Given the description of an element on the screen output the (x, y) to click on. 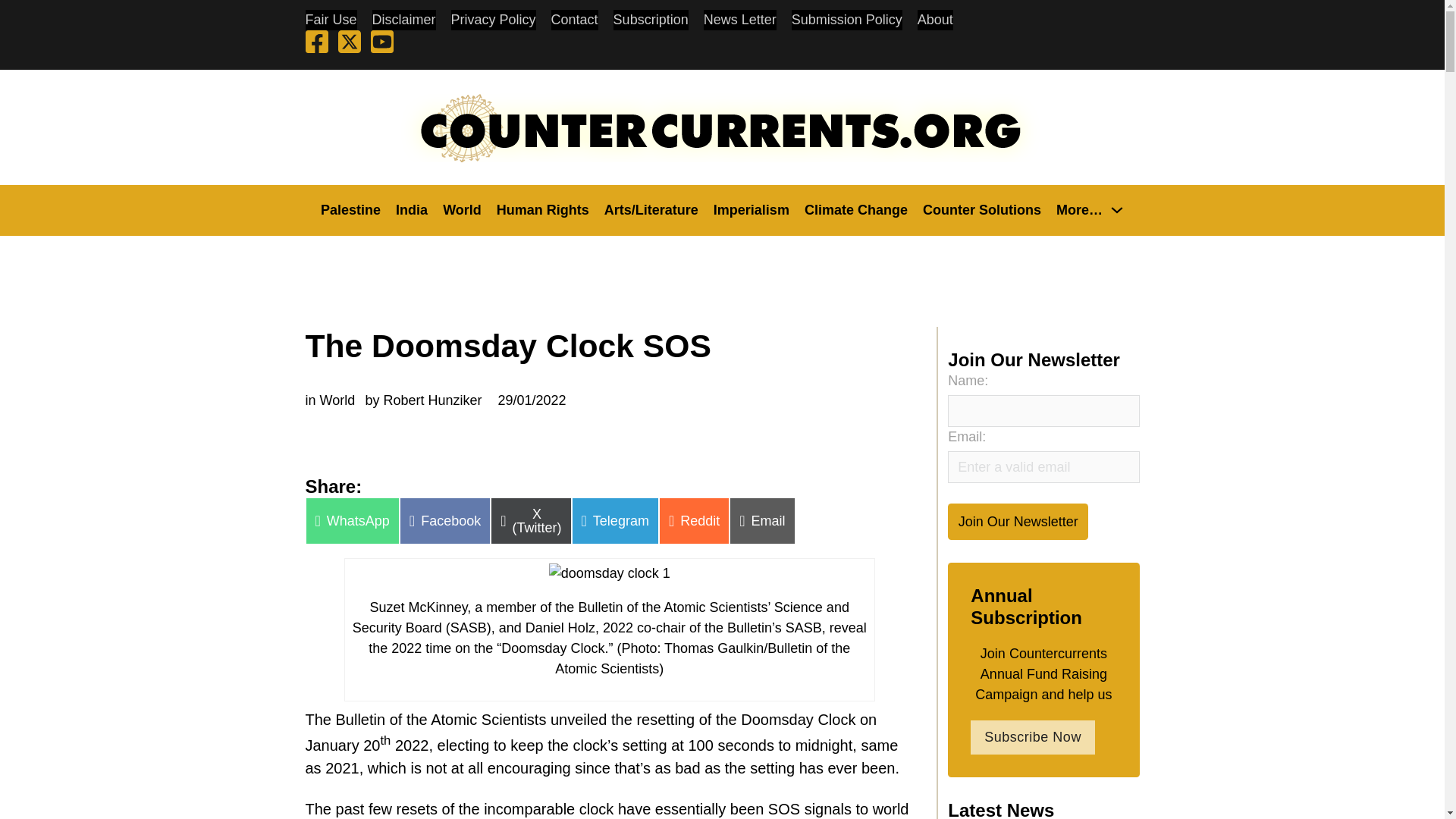
Submission Policy (847, 19)
News Letter (739, 19)
Disclaimer (403, 19)
Subscription (650, 19)
Privacy Policy (493, 19)
Fair Use (330, 19)
Climate Change (856, 209)
Palestine (350, 209)
World (461, 209)
India (412, 209)
